Given the description of an element on the screen output the (x, y) to click on. 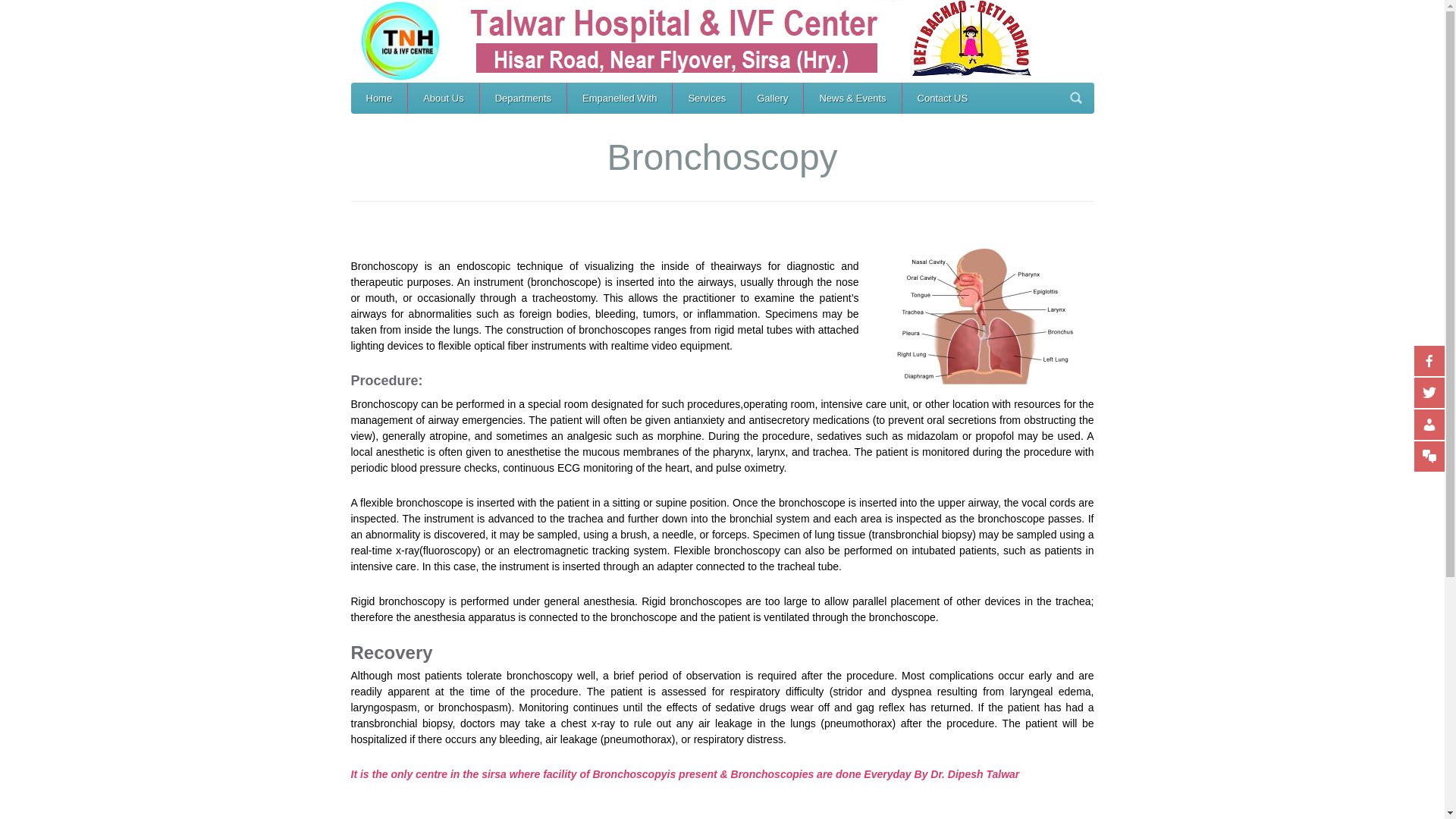
Departments (523, 97)
Home (378, 97)
About Us (443, 97)
Empanelled With (619, 97)
Contact US (942, 97)
Gallery (772, 97)
Services (706, 97)
